Given the description of an element on the screen output the (x, y) to click on. 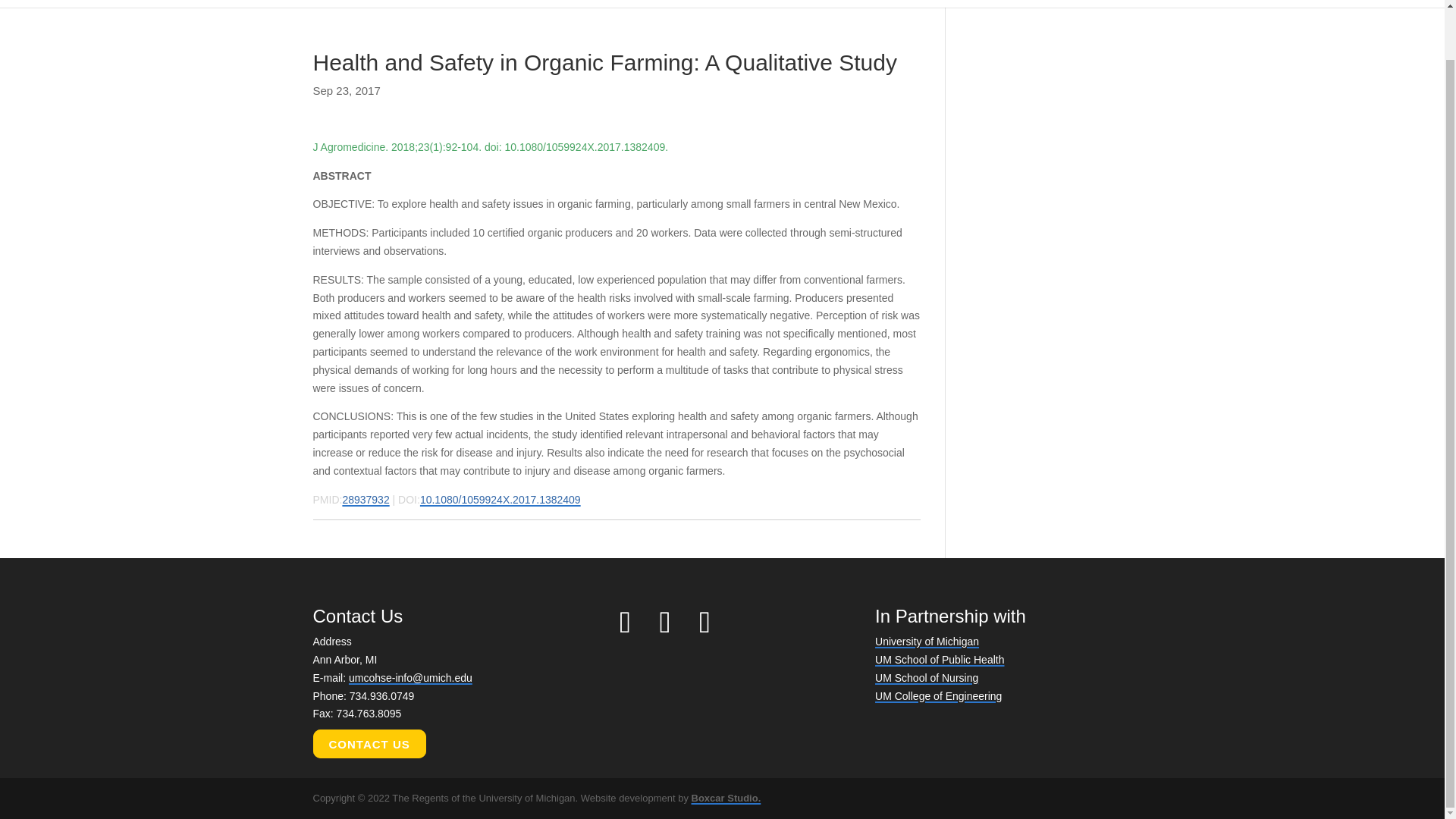
Continuing Education (1034, 3)
Academics (799, 3)
Research (899, 3)
Training Opportunities (1213, 3)
Why COHSE (689, 3)
